Given the description of an element on the screen output the (x, y) to click on. 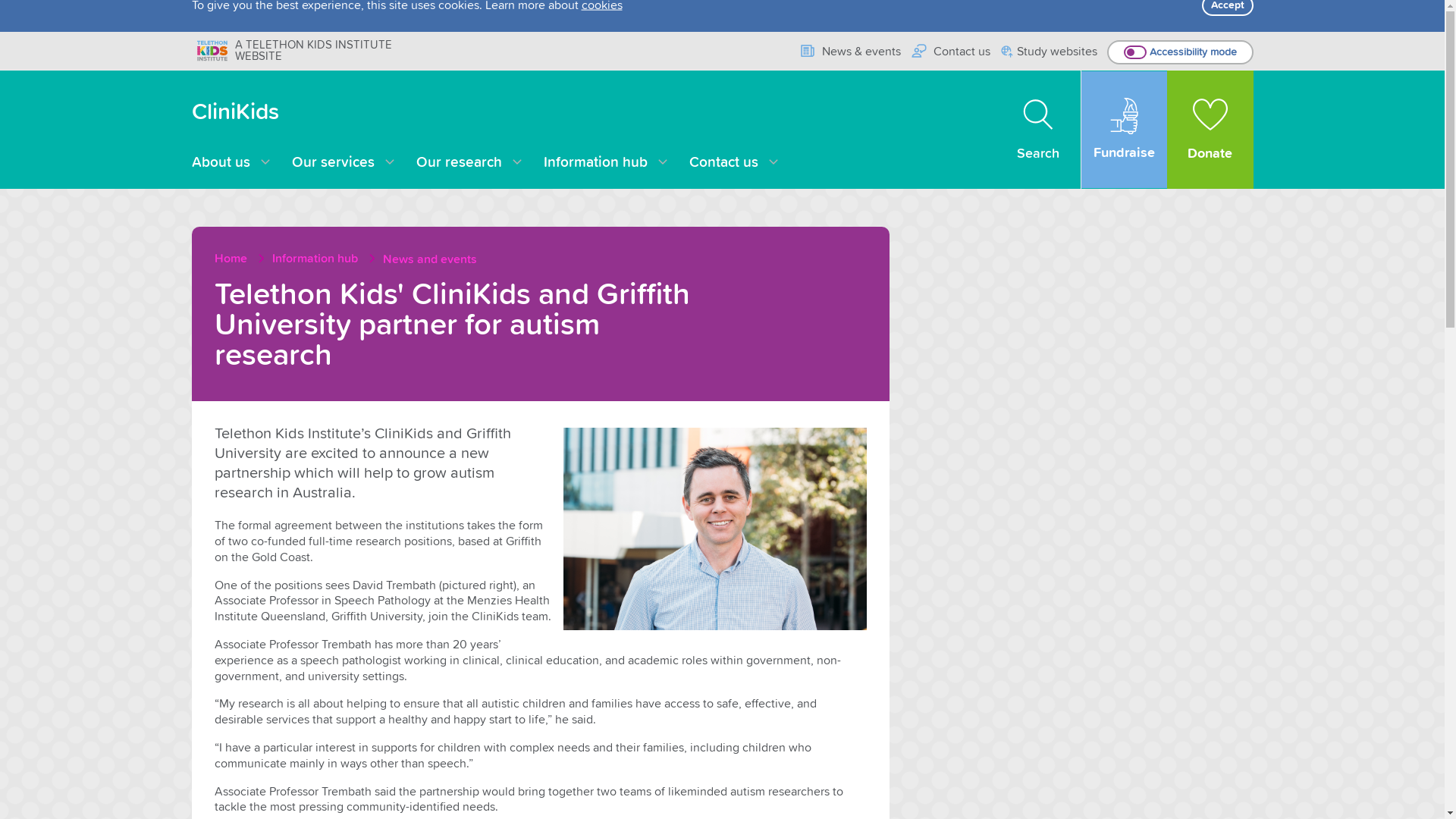
News & events Element type: text (849, 51)
tki-logo-final Element type: text (212, 49)
About us Element type: text (231, 162)
Our research Element type: text (469, 162)
Home Element type: text (240, 258)
Our services Element type: text (343, 162)
Information hub Element type: text (605, 162)
Contact us Element type: text (734, 162)
Accessibility mode Element type: text (1180, 52)
Information hub Element type: text (325, 258)
CliniKids Element type: text (234, 111)
News and events Element type: text (429, 259)
Donate Element type: text (1209, 129)
Study websites Element type: text (1049, 52)
Contact us Element type: text (950, 51)
Fundraise Element type: text (1124, 129)
Search Element type: text (1038, 129)
